Given the description of an element on the screen output the (x, y) to click on. 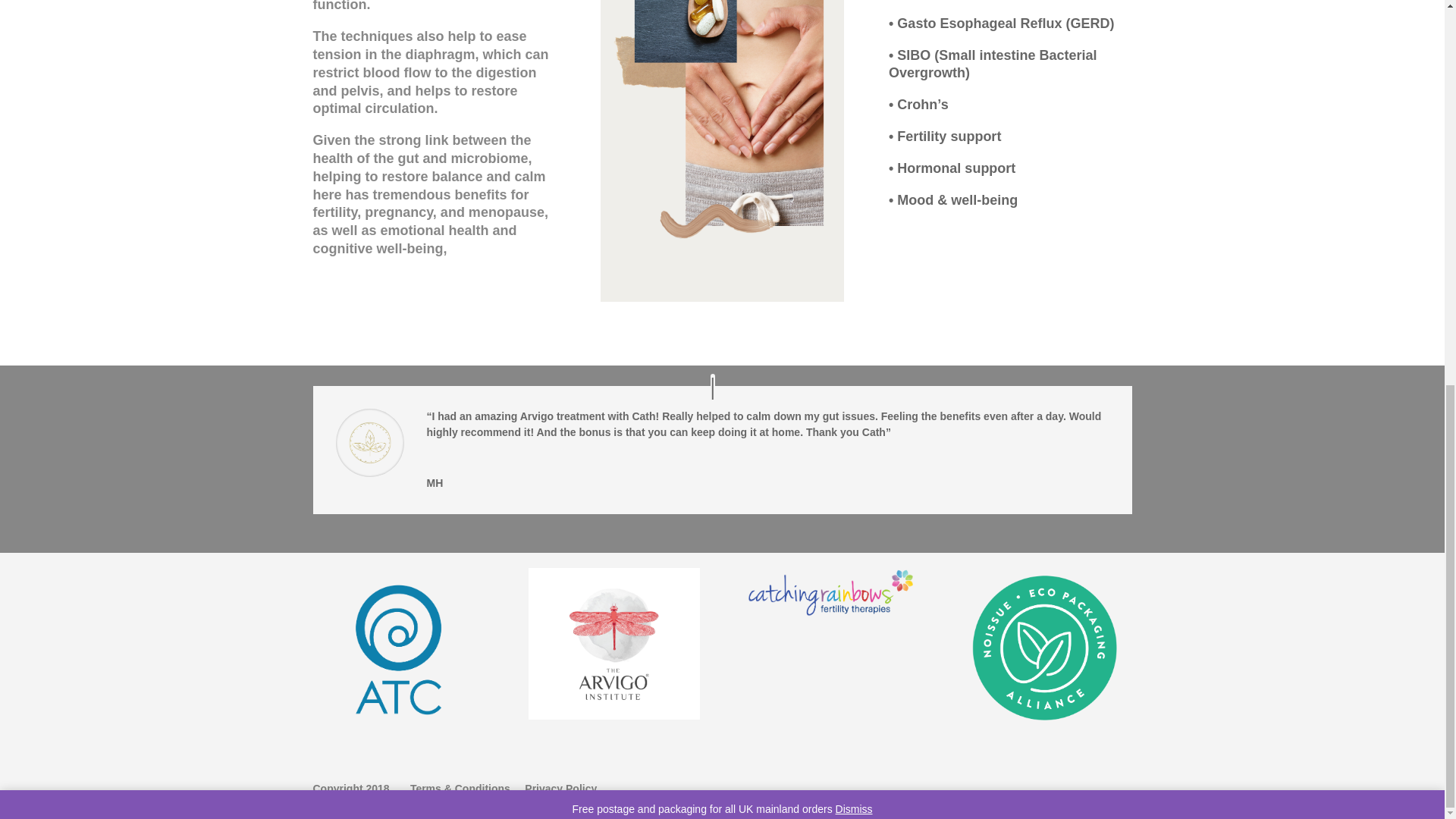
 Privacy Policy (558, 788)
eco-alliance-02 (1045, 651)
Dismiss (853, 82)
